Given the description of an element on the screen output the (x, y) to click on. 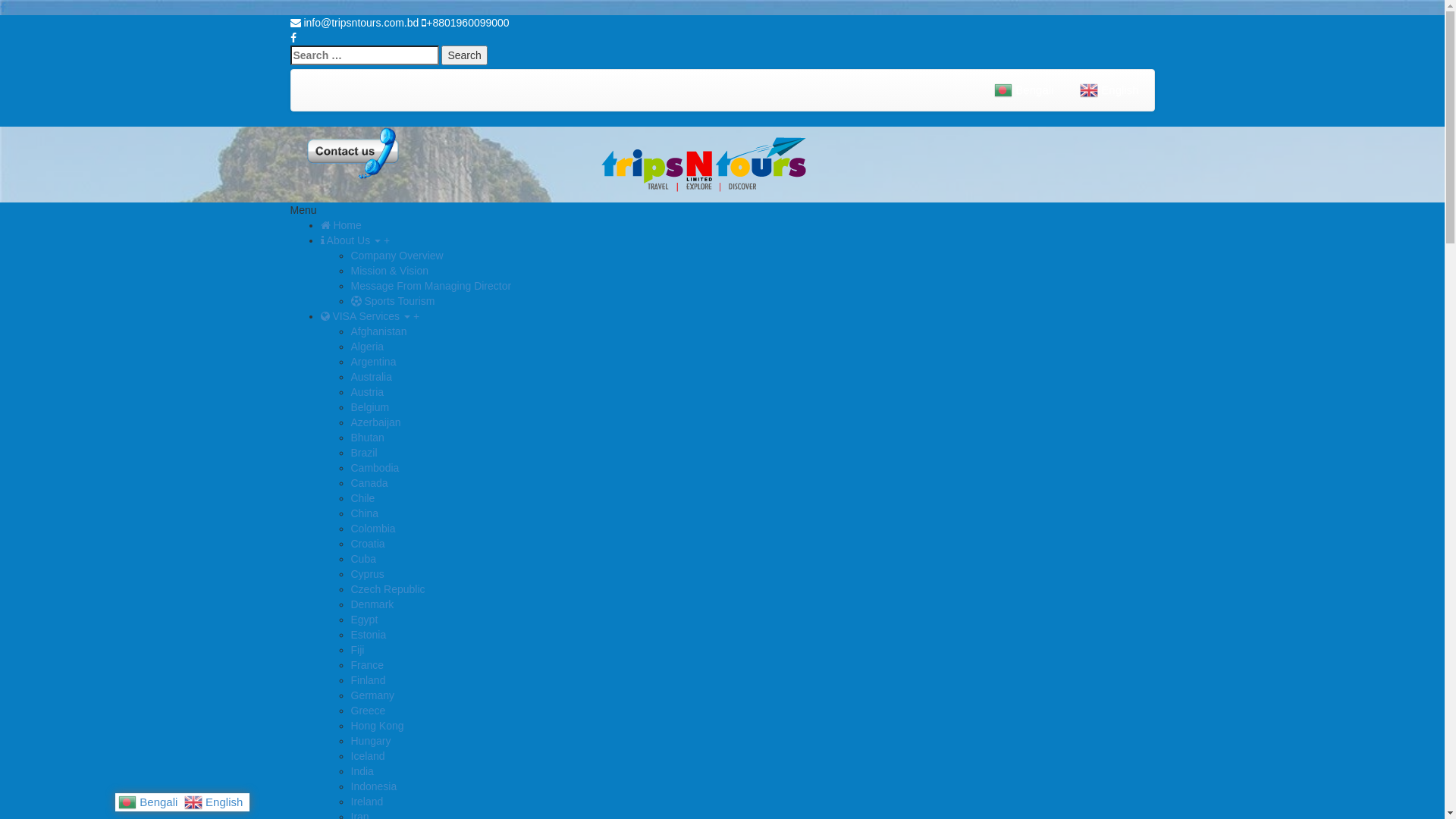
Company Overview Element type: text (396, 255)
Hungary Element type: text (370, 740)
 Home Element type: text (340, 225)
Greece Element type: text (367, 710)
India Element type: text (361, 771)
Austria Element type: text (366, 391)
info@tripsntours.com.bd Element type: text (353, 22)
Croatia Element type: text (367, 543)
Chile Element type: text (362, 498)
Bengali Element type: text (149, 801)
Ireland Element type: text (366, 801)
Australia Element type: text (370, 376)
Egypt Element type: text (363, 619)
English Element type: text (1110, 89)
Hong Kong Element type: text (376, 725)
Cambodia Element type: text (374, 467)
Search Element type: text (463, 55)
Argentina Element type: text (372, 361)
Iceland Element type: text (367, 755)
+8801960099000 Element type: text (464, 22)
France Element type: text (366, 664)
Azerbaijan Element type: text (375, 422)
Colombia Element type: text (372, 528)
China Element type: text (364, 513)
Estonia Element type: text (367, 634)
Denmark Element type: text (371, 604)
Algeria Element type: text (366, 346)
Belgium Element type: text (369, 407)
Afghanistan Element type: text (378, 331)
Finland Element type: text (367, 680)
 VISA Services Element type: text (364, 316)
Mission & Vision Element type: text (388, 270)
Cyprus Element type: text (366, 573)
Fiji Element type: text (357, 649)
 About Us Element type: text (350, 240)
Indonesia Element type: text (373, 786)
Bhutan Element type: text (366, 437)
Bengali Element type: text (1025, 89)
Brazil Element type: text (363, 452)
Germany Element type: text (372, 695)
 Sports Tourism Element type: text (392, 300)
+ Element type: text (416, 316)
Cuba Element type: text (362, 558)
Czech Republic Element type: text (387, 589)
Canada Element type: text (368, 482)
Message From Managing Director Element type: text (430, 285)
English Element type: text (215, 801)
+ Element type: text (386, 240)
